Given the description of an element on the screen output the (x, y) to click on. 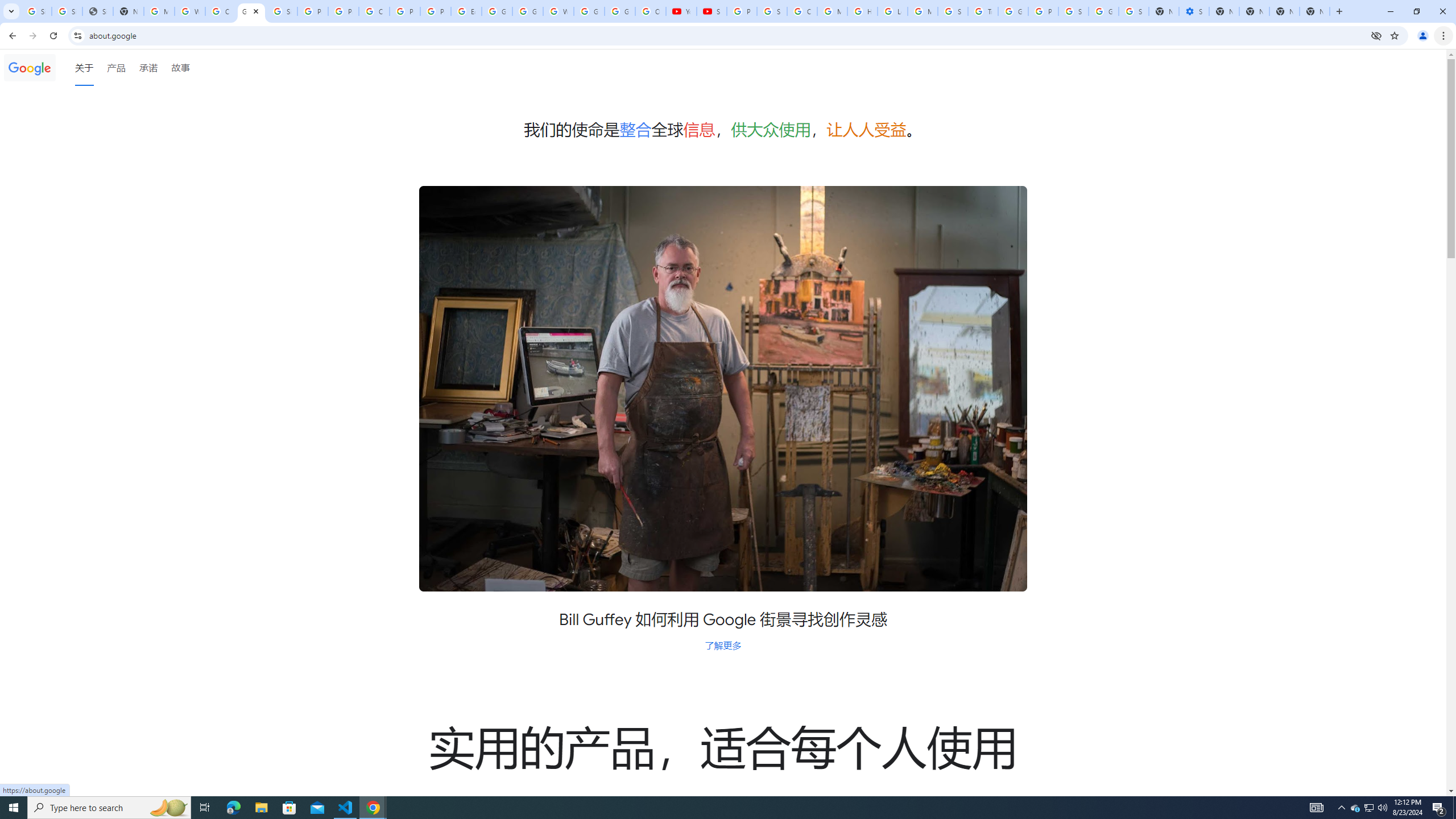
Search our Doodle Library Collection - Google Doodles (952, 11)
Subscriptions - YouTube (711, 11)
Who is my administrator? - Google Account Help (189, 11)
YouTube (681, 11)
Google Slides: Sign-in (496, 11)
Chrome (1445, 35)
Sign in - Google Accounts (771, 11)
New Tab (1338, 11)
